Given the description of an element on the screen output the (x, y) to click on. 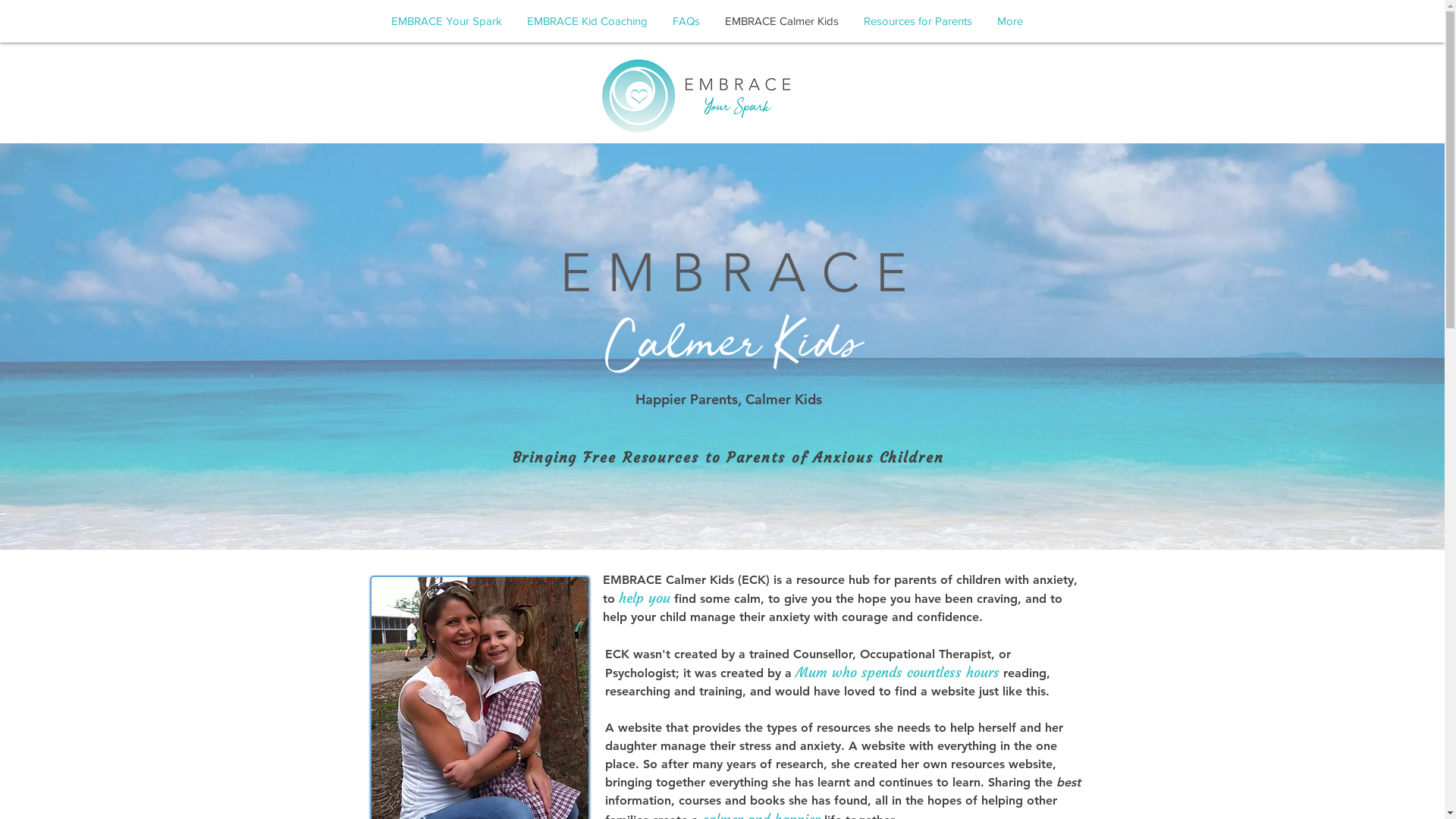
EMBRACE Kid Coaching Element type: text (586, 21)
EMBRACE Calmer Kids Element type: text (781, 21)
EMBRACE Your Spark Element type: text (445, 21)
Resources for Parents Element type: text (917, 21)
FAQs Element type: text (685, 21)
